Given the description of an element on the screen output the (x, y) to click on. 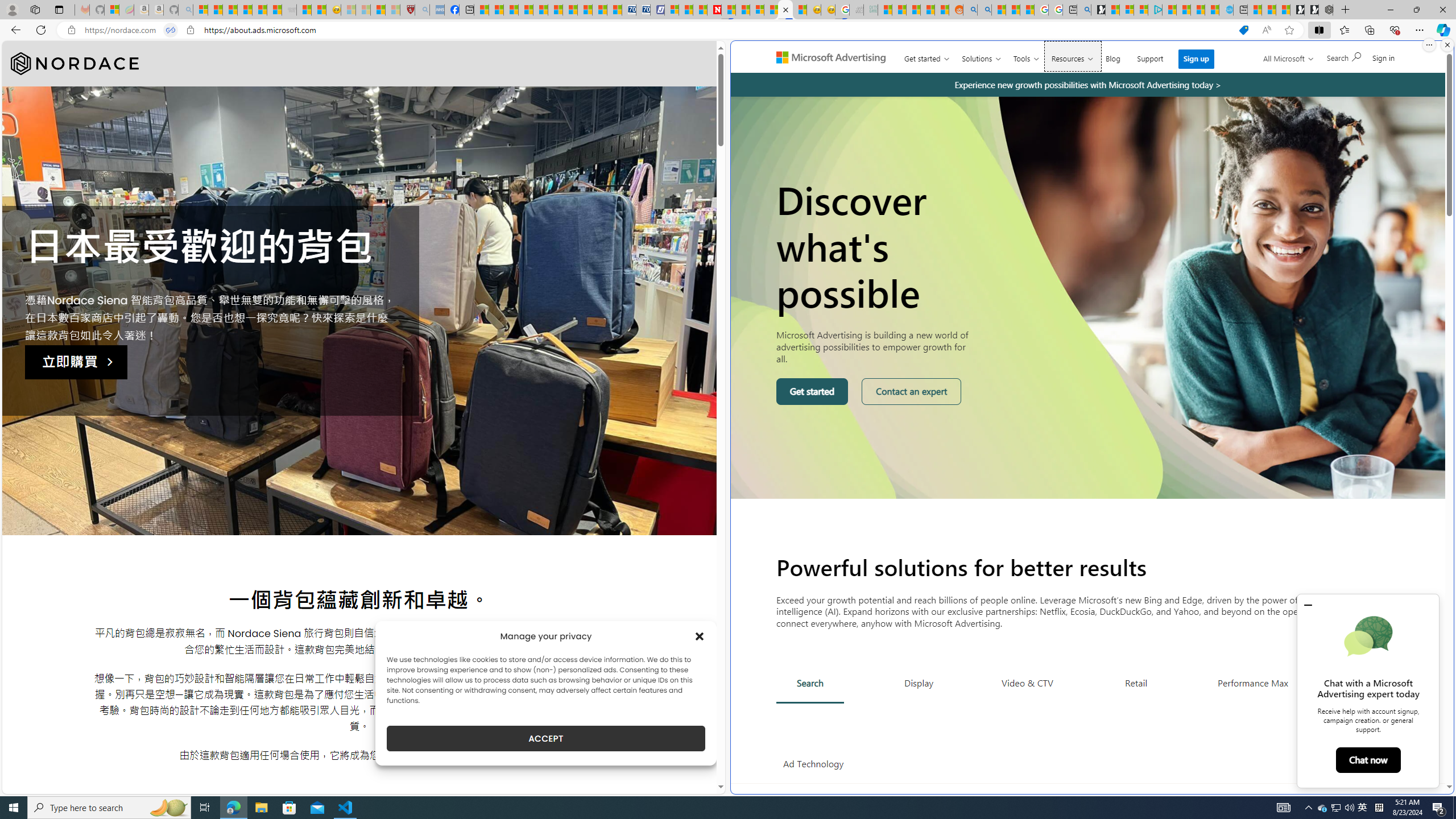
Get started (812, 391)
Bing Real Estate - Home sales and rental listings (1083, 9)
Support (1149, 56)
Tabs in split screen (170, 29)
Robert H. Shmerling, MD - Harvard Health (406, 9)
